Given the description of an element on the screen output the (x, y) to click on. 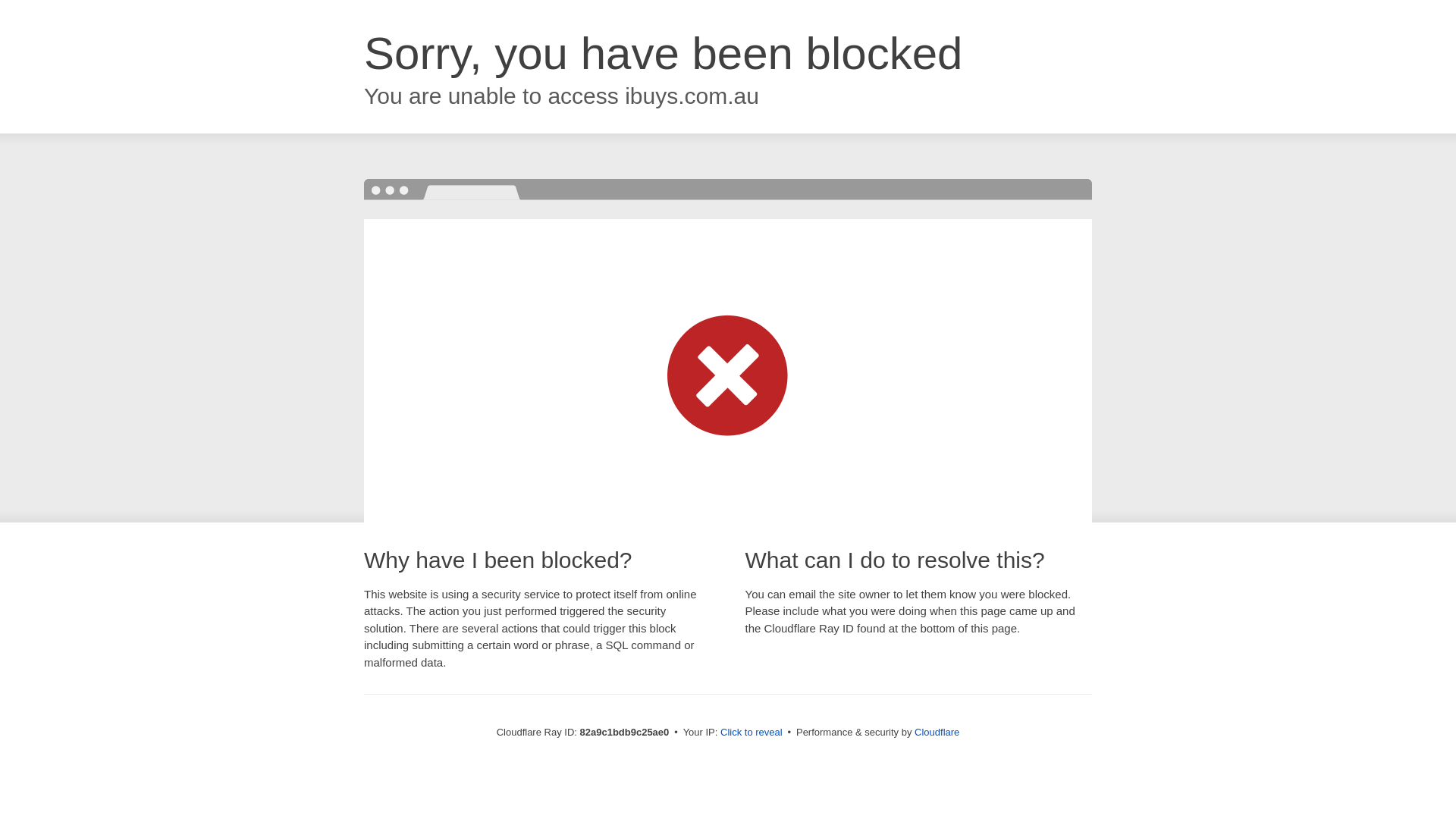
Cloudflare Element type: text (936, 731)
Click to reveal Element type: text (751, 732)
